Given the description of an element on the screen output the (x, y) to click on. 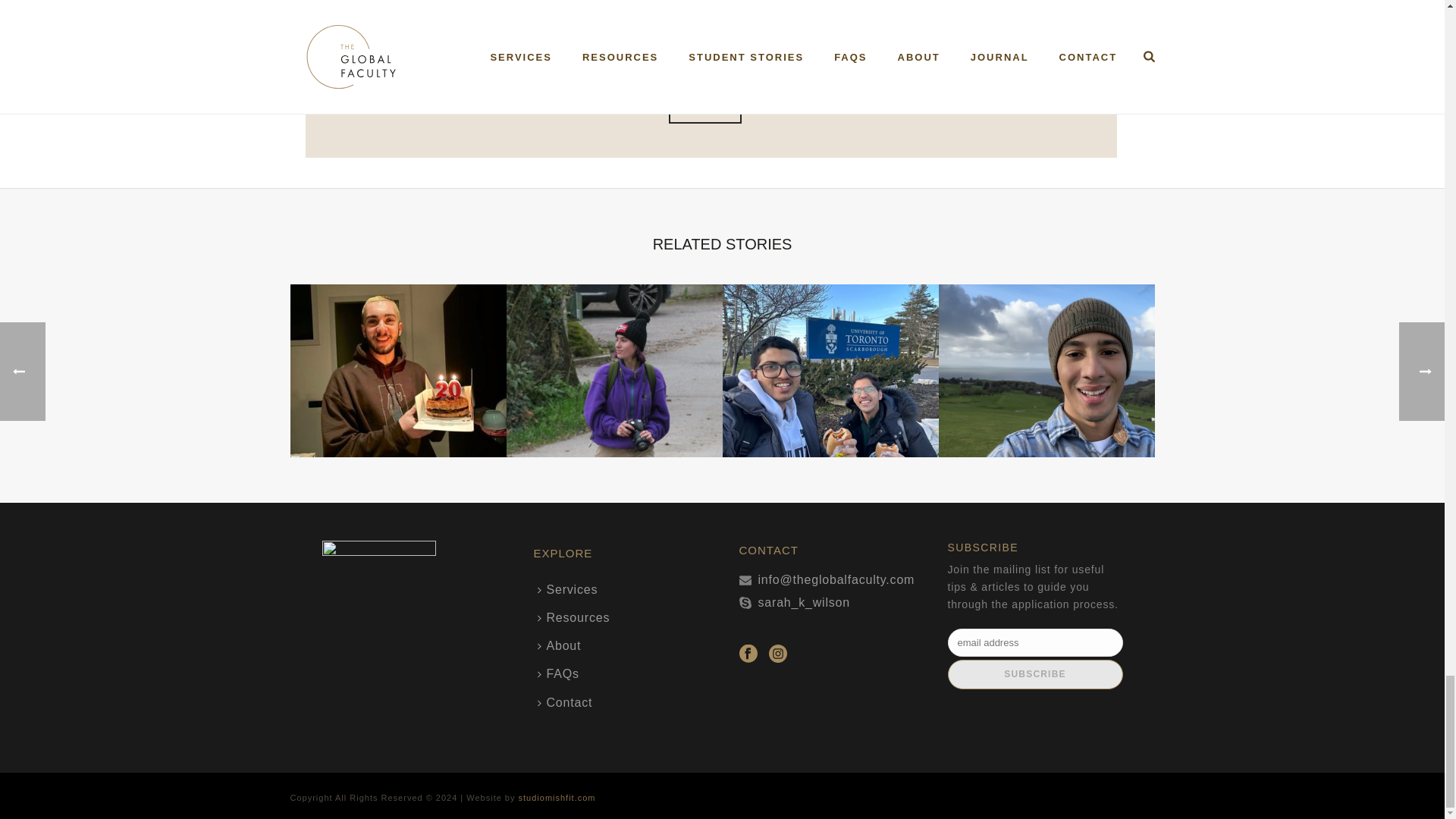
CONTACT (704, 110)
Services (572, 589)
Meet Fallon at the University of Glasgow (614, 370)
Subscribe (1034, 674)
Meet Landon at Aberystwyth University in Wales (1046, 370)
CONTACT (704, 110)
Meet Rocco at the Willem de Kooning Academy (397, 370)
Meet Swajeet at the University of Toronto (829, 370)
